Given the description of an element on the screen output the (x, y) to click on. 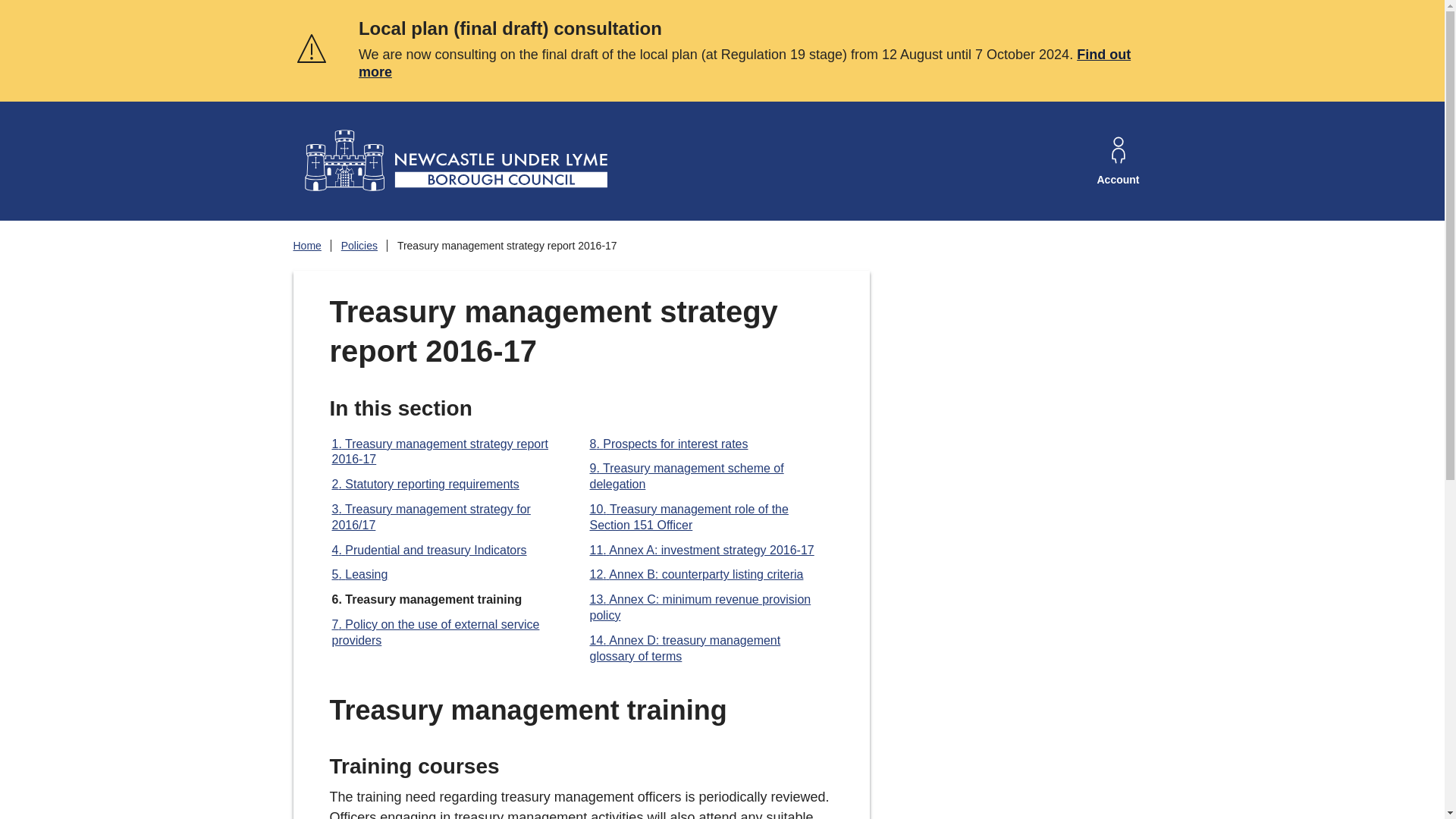
Policy on the use of external service providers (435, 632)
Prudential and treasury Indicators (429, 549)
Treasury management scheme of delegation (686, 475)
Home (306, 245)
Leasing (359, 574)
Treasury management strategy report 2016-17 (439, 451)
Newcastle-under-Lyme Borough Council Home Page (453, 161)
Find out more (744, 62)
Statutory reporting requirements (425, 483)
Prospects for interest rates (668, 443)
